Given the description of an element on the screen output the (x, y) to click on. 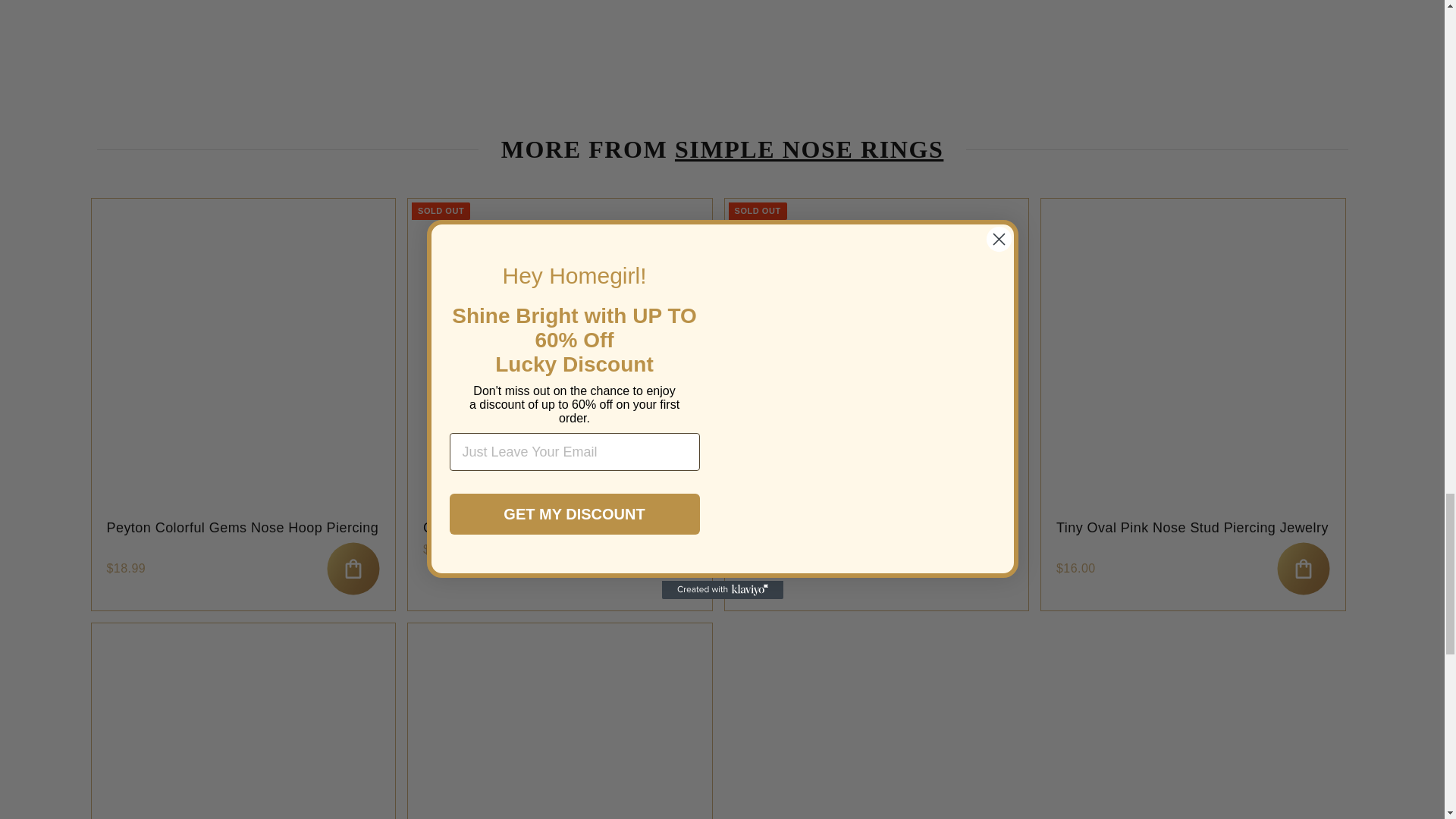
Add to cart (1303, 568)
Add to cart (353, 568)
